Given the description of an element on the screen output the (x, y) to click on. 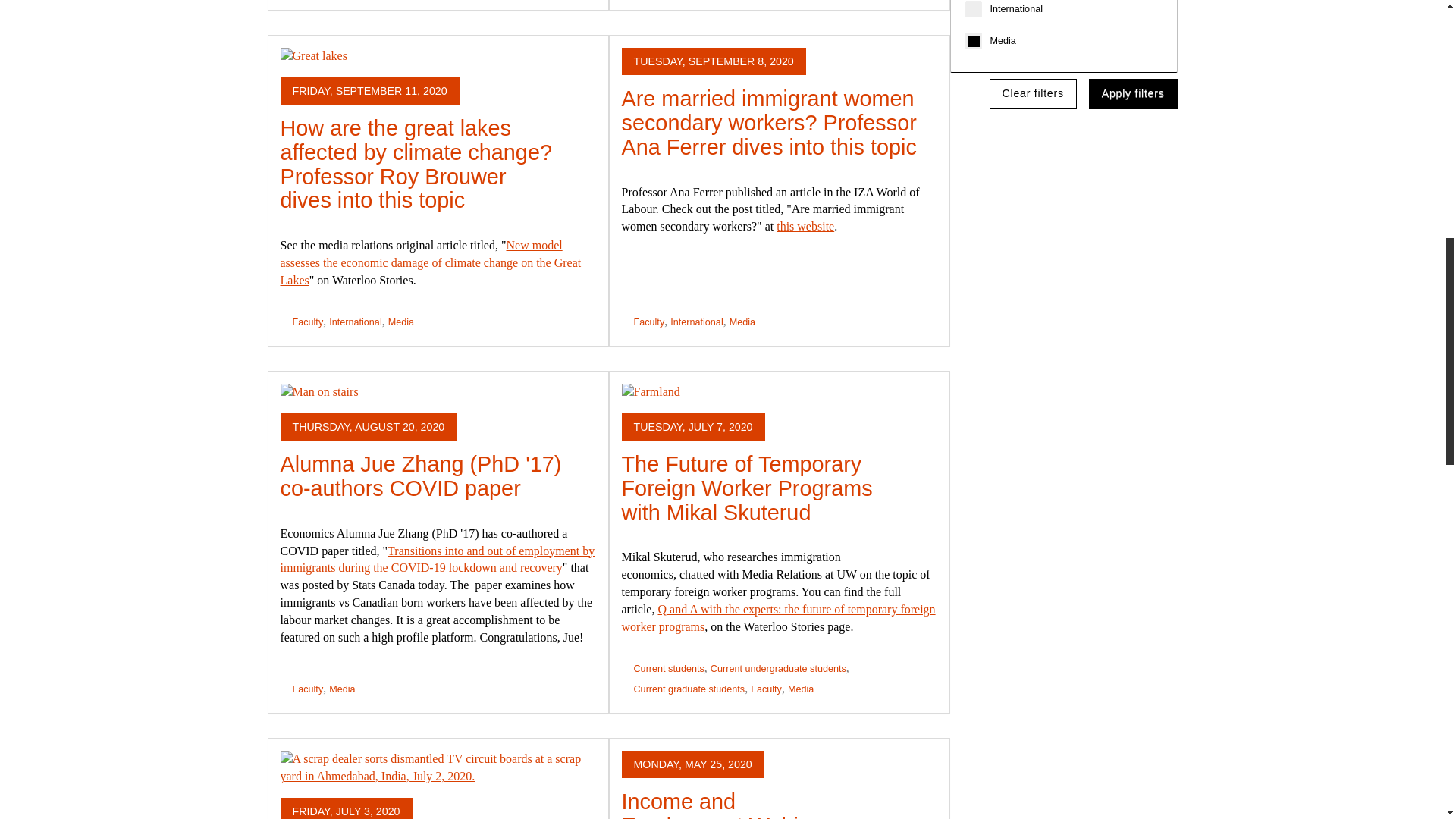
Apply filters (1133, 93)
Clear filters (1033, 93)
